Given the description of an element on the screen output the (x, y) to click on. 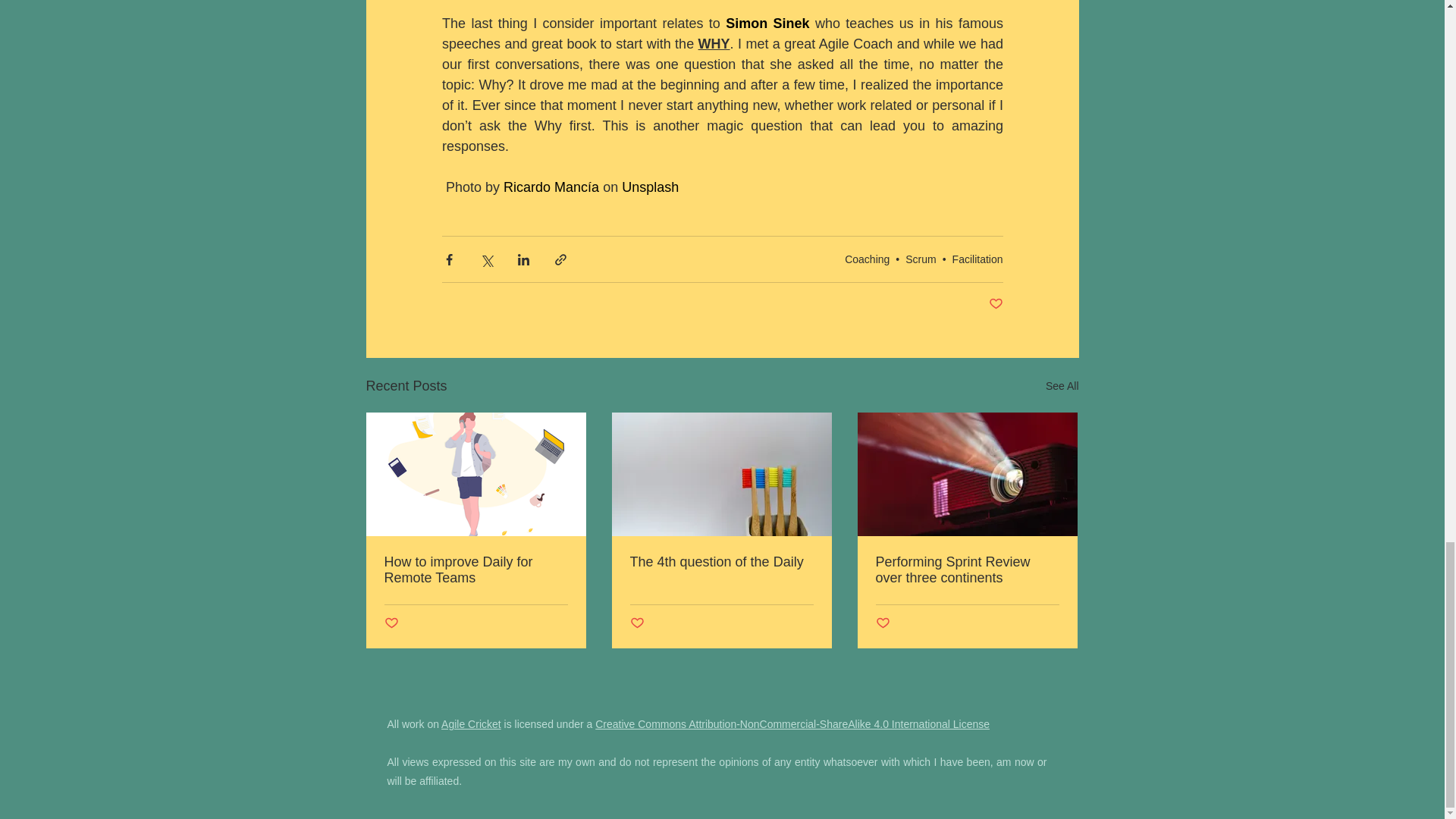
See All (1061, 386)
Unsplash  (651, 186)
Simon Sinek (767, 23)
Coaching (866, 259)
Scrum (920, 259)
Performing Sprint Review over three continents (966, 570)
Post not marked as liked (995, 304)
Post not marked as liked (390, 623)
Facilitation (977, 259)
The 4th question of the Daily (720, 562)
